Given the description of an element on the screen output the (x, y) to click on. 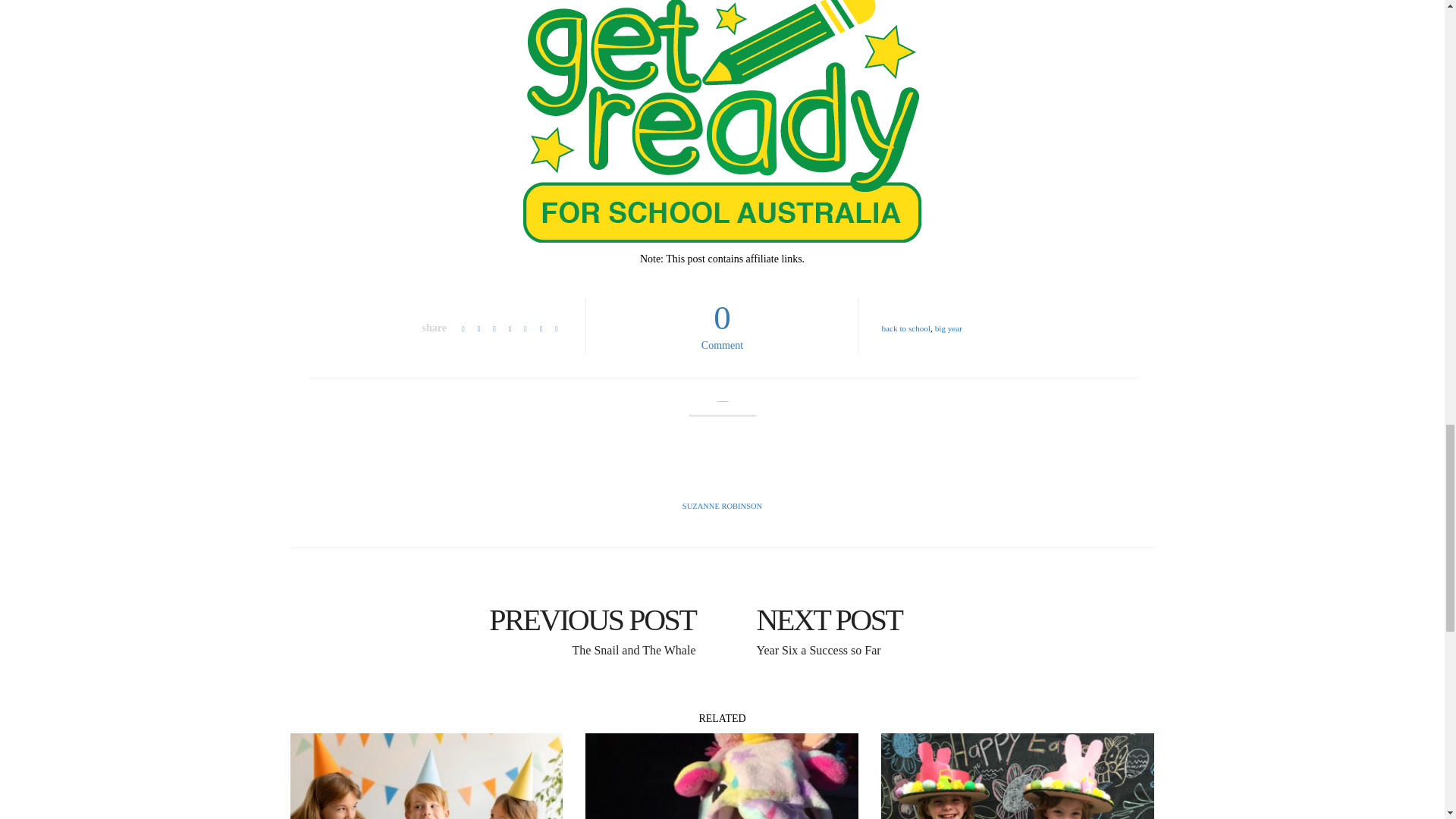
Tips for buying gifts for twins and triplets (425, 776)
Posts by Suzanne Robinson (721, 506)
The Story of the Unibunny (722, 776)
Year Six a Success so Far (943, 618)
The Snail and The Whale (499, 618)
